Given the description of an element on the screen output the (x, y) to click on. 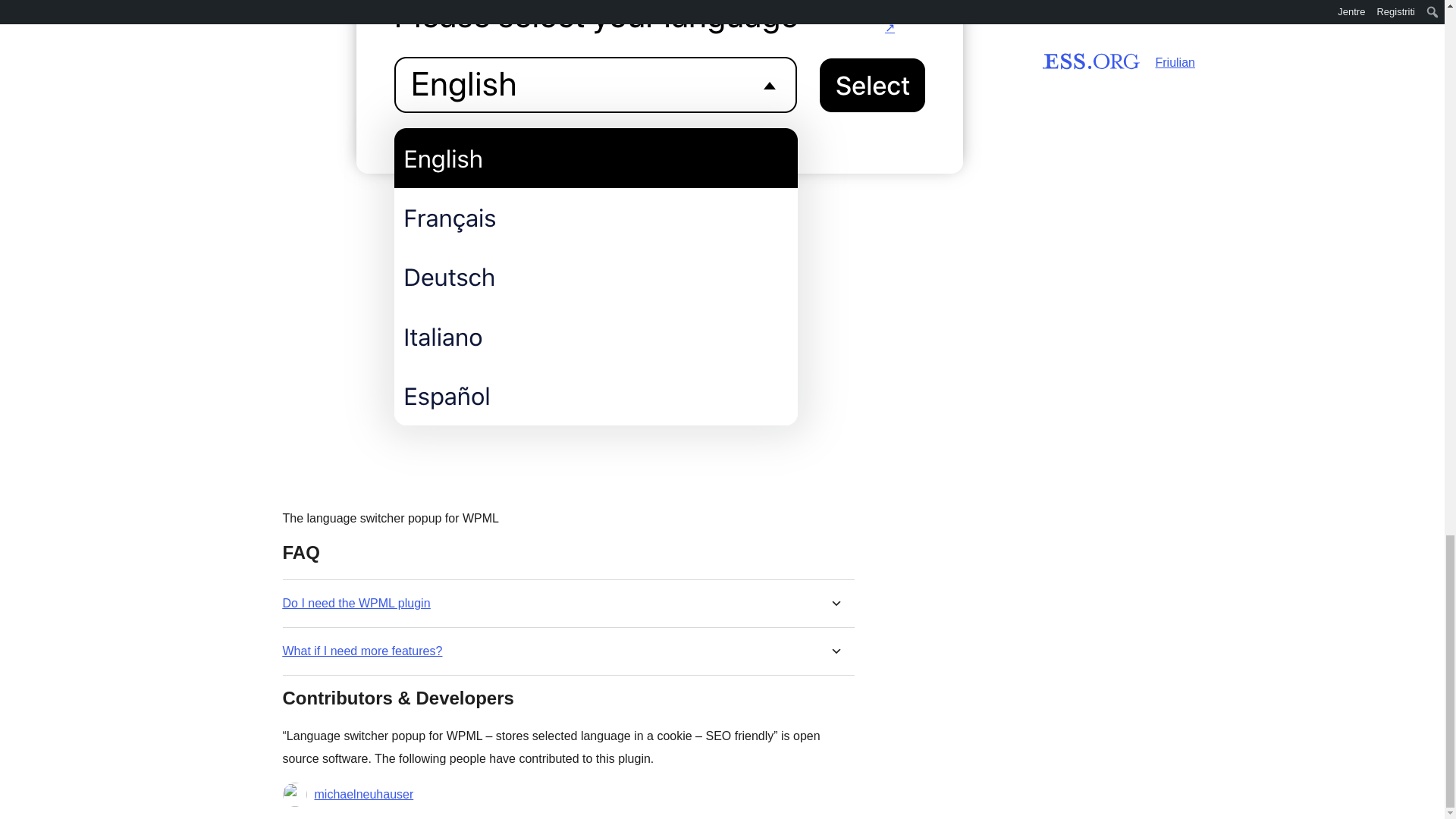
WordPress.org (864, 58)
What if I need more features? (362, 650)
WordPress.org (1014, 58)
Do I need the WPML plugin (355, 603)
michaelneuhauser (363, 793)
